Given the description of an element on the screen output the (x, y) to click on. 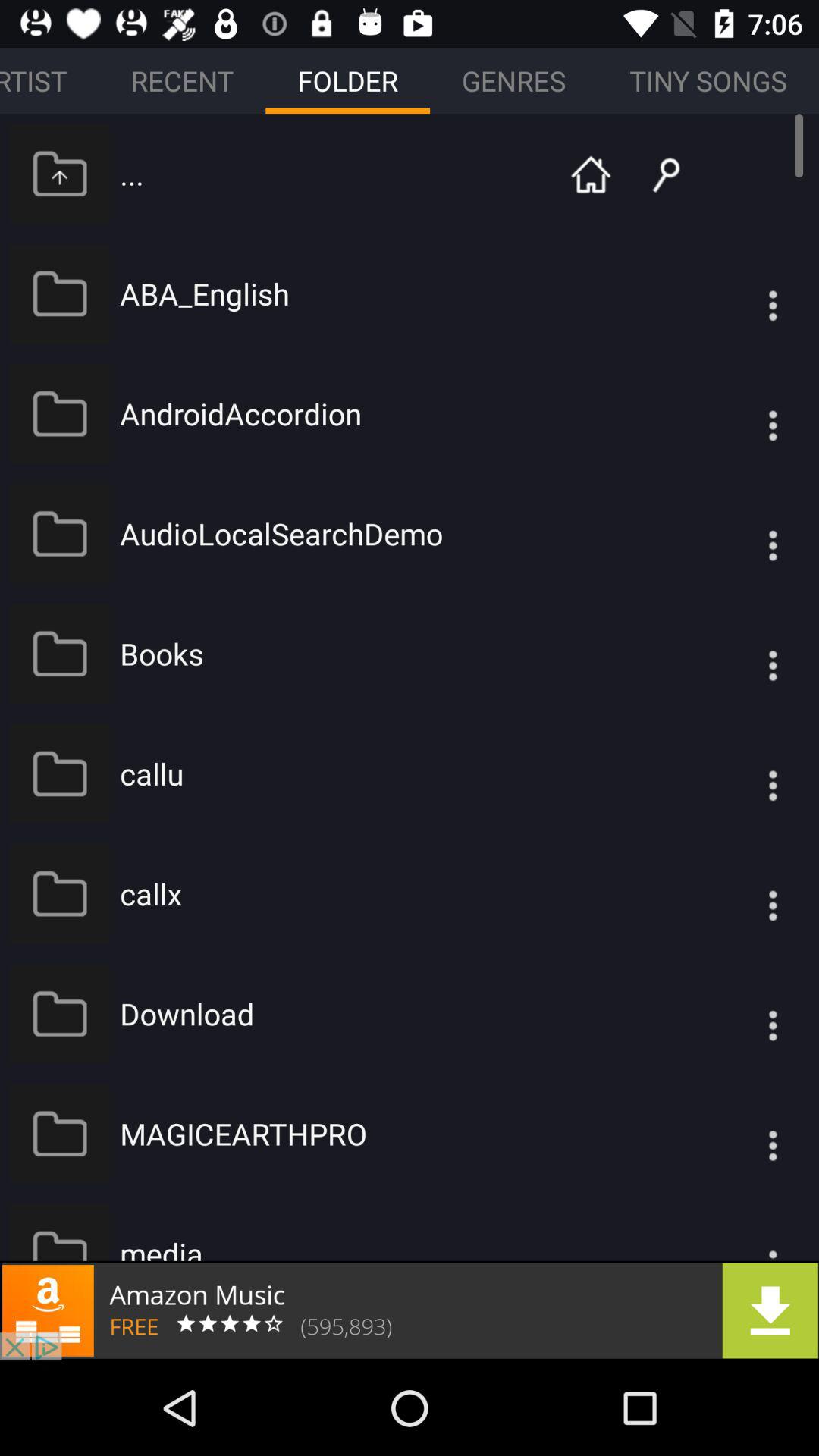
further options menu (742, 533)
